Given the description of an element on the screen output the (x, y) to click on. 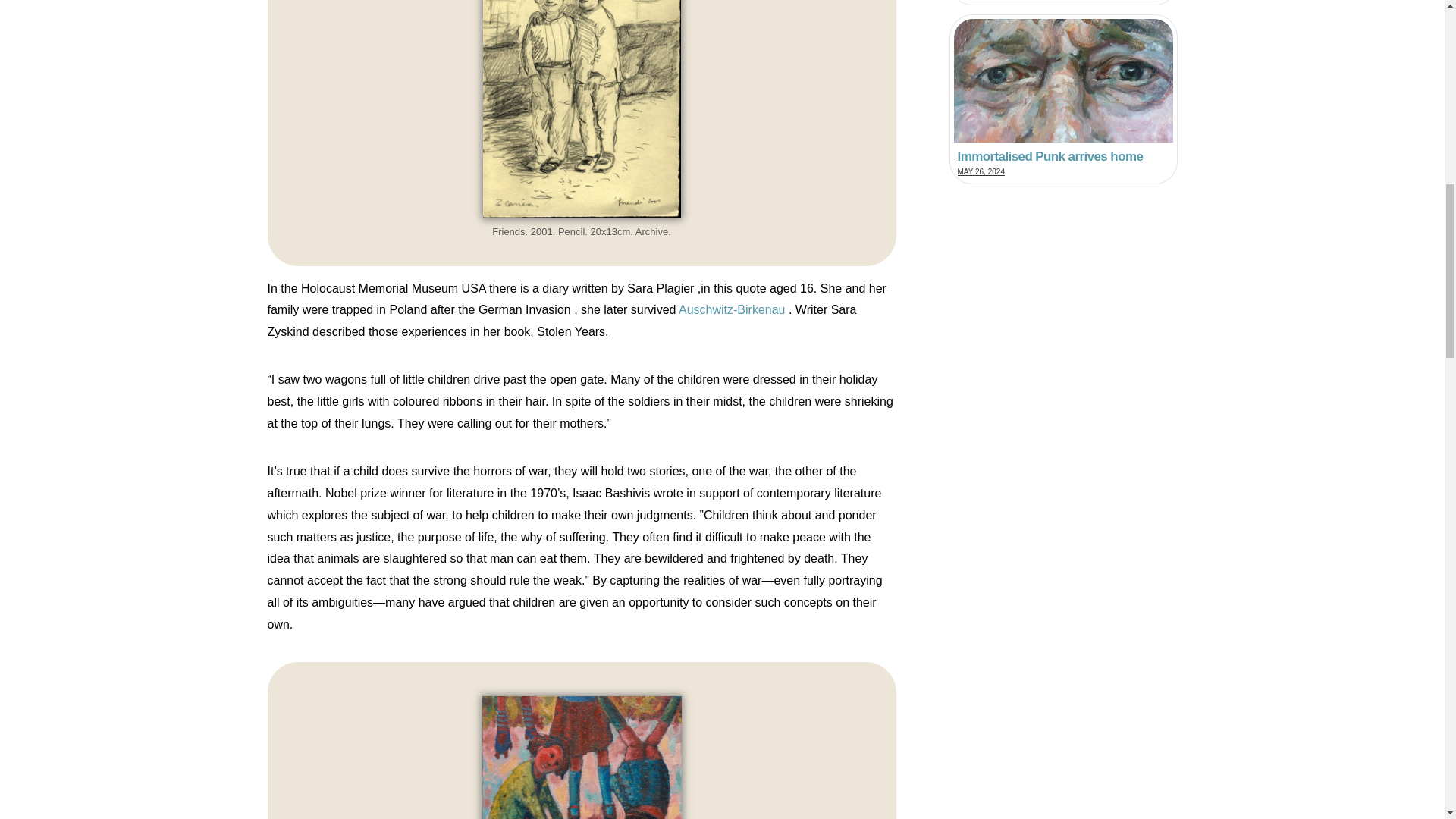
Auschwitz-Birkenau (732, 309)
Permalink to: "Immortalised Punk arrives home" (1063, 2)
Permalink to: "Ukraine" (1063, 99)
